Given the description of an element on the screen output the (x, y) to click on. 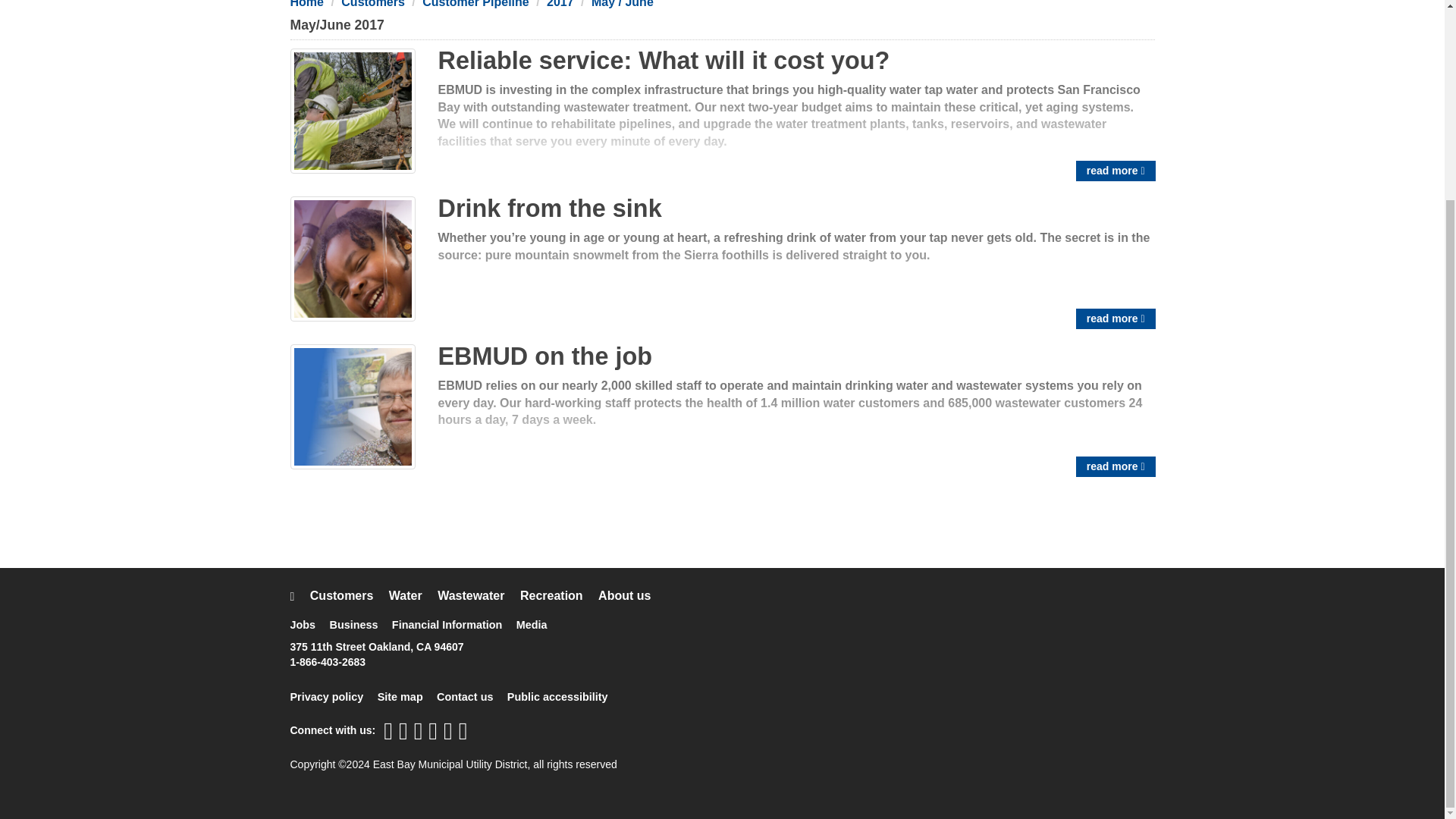
Drink from the sink (550, 207)
EBMUD on the job (545, 356)
Customers (372, 4)
Water (410, 594)
2017 (560, 4)
read more (1115, 318)
Wastewater (477, 594)
Recreation (557, 594)
Customers (347, 594)
read more (1115, 170)
